Given the description of an element on the screen output the (x, y) to click on. 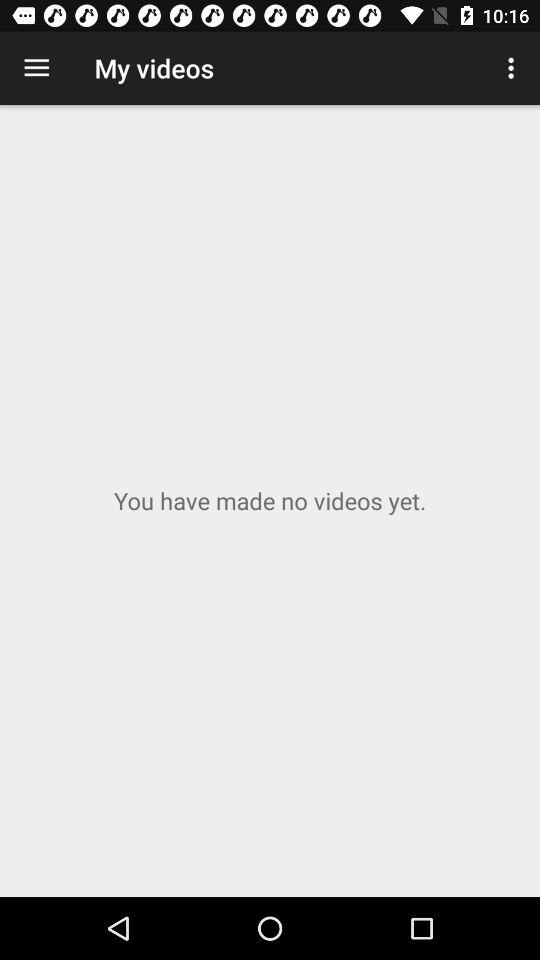
click the item above you have made icon (36, 68)
